Given the description of an element on the screen output the (x, y) to click on. 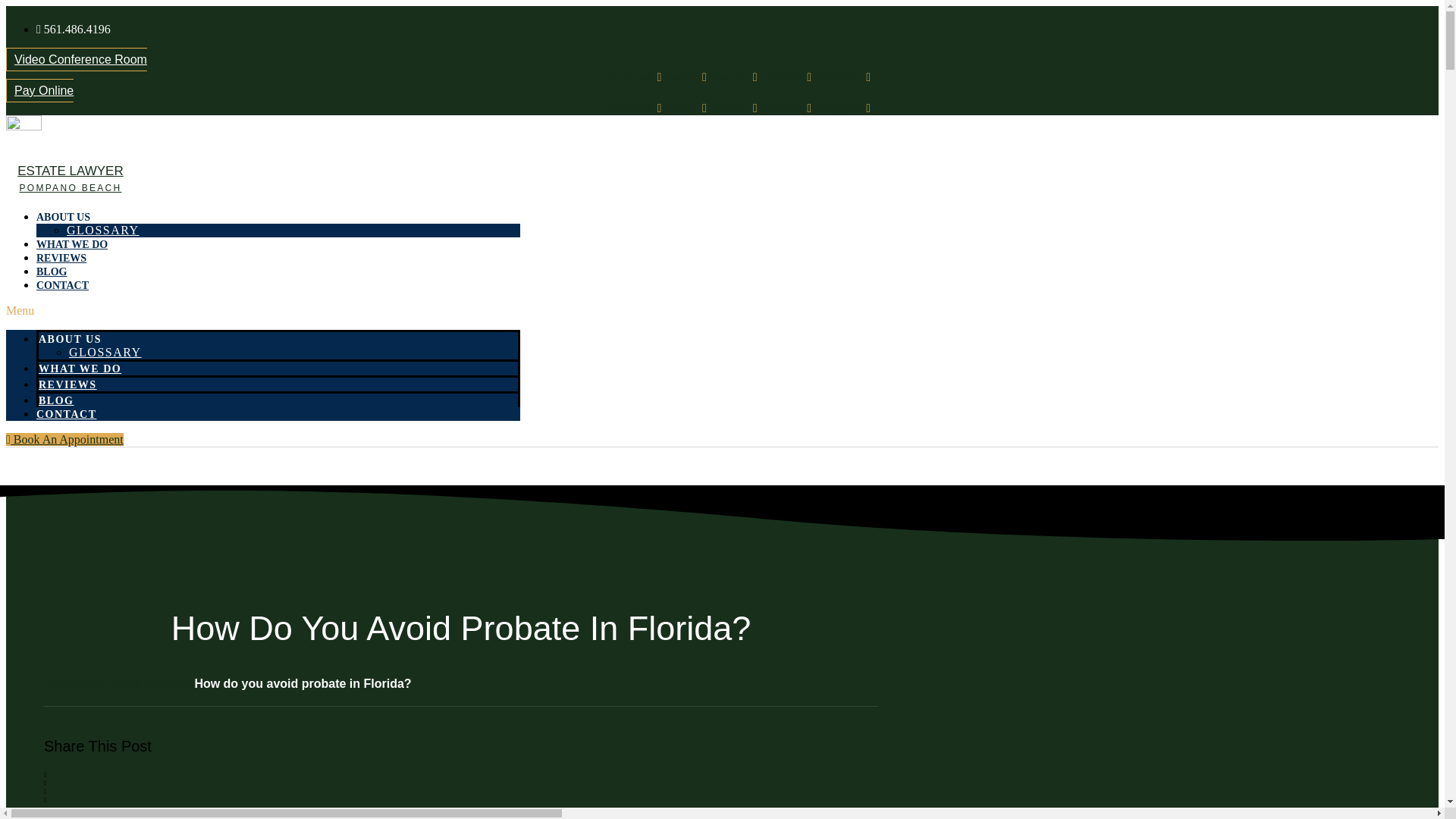
Instagram (841, 107)
ABOUT US (70, 338)
561.486.4196 (124, 816)
CONTACT (66, 414)
BLOG (51, 271)
561.486.4196 (73, 29)
Facebook (635, 76)
GLOSSARY (102, 229)
REVIEWS (68, 384)
Video Conference Room (76, 59)
